Given the description of an element on the screen output the (x, y) to click on. 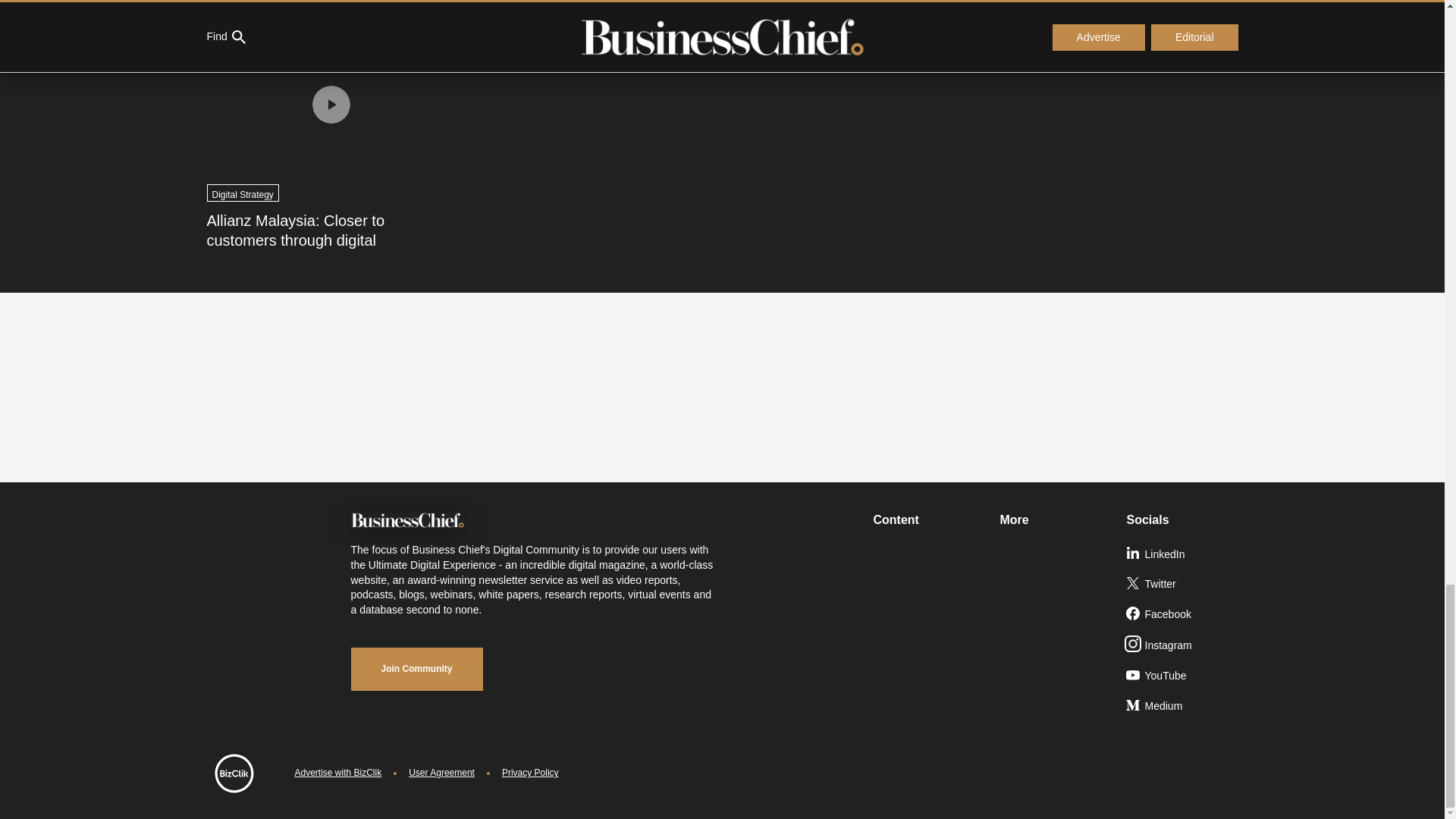
Instagram (1182, 644)
LinkedIn (1182, 554)
Join Community (415, 669)
YouTube (1182, 675)
Facebook (1182, 614)
Twitter (1182, 584)
